Given the description of an element on the screen output the (x, y) to click on. 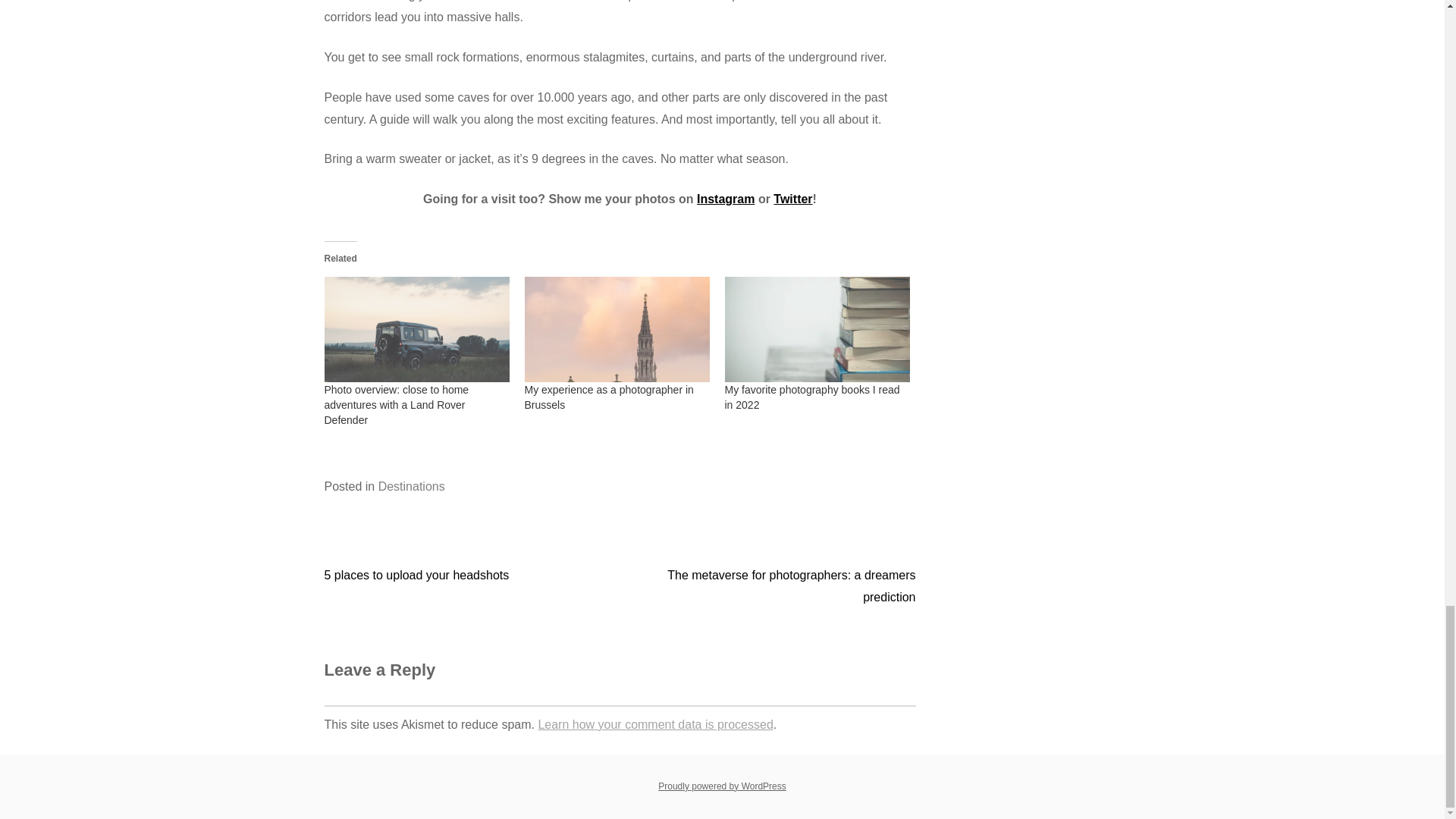
The metaverse for photographers: a dreamers prediction (790, 585)
Twitter (792, 198)
My experience as a photographer in Brussels (609, 397)
My favorite photography books I read in 2022 (817, 329)
My favorite photography books I read in 2022 (812, 397)
My experience as a photographer in Brussels (617, 329)
Instagram (725, 198)
My favorite photography books I read in 2022 (812, 397)
My experience as a photographer in Brussels (609, 397)
5 places to upload your headshots (416, 574)
Destinations (411, 486)
